Given the description of an element on the screen output the (x, y) to click on. 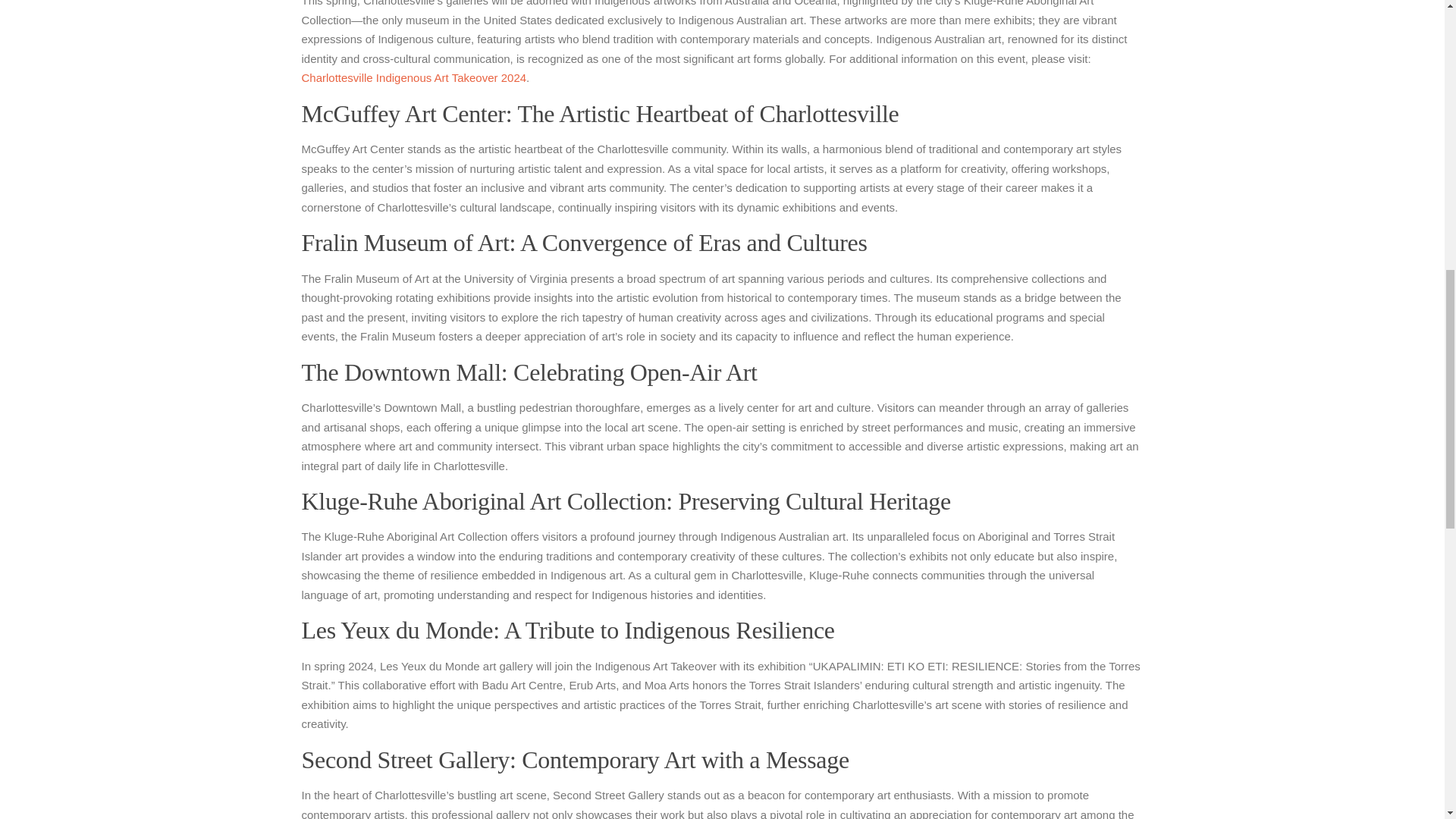
Charlottesville Indigenous Art Takeover 2024 (414, 77)
